Given the description of an element on the screen output the (x, y) to click on. 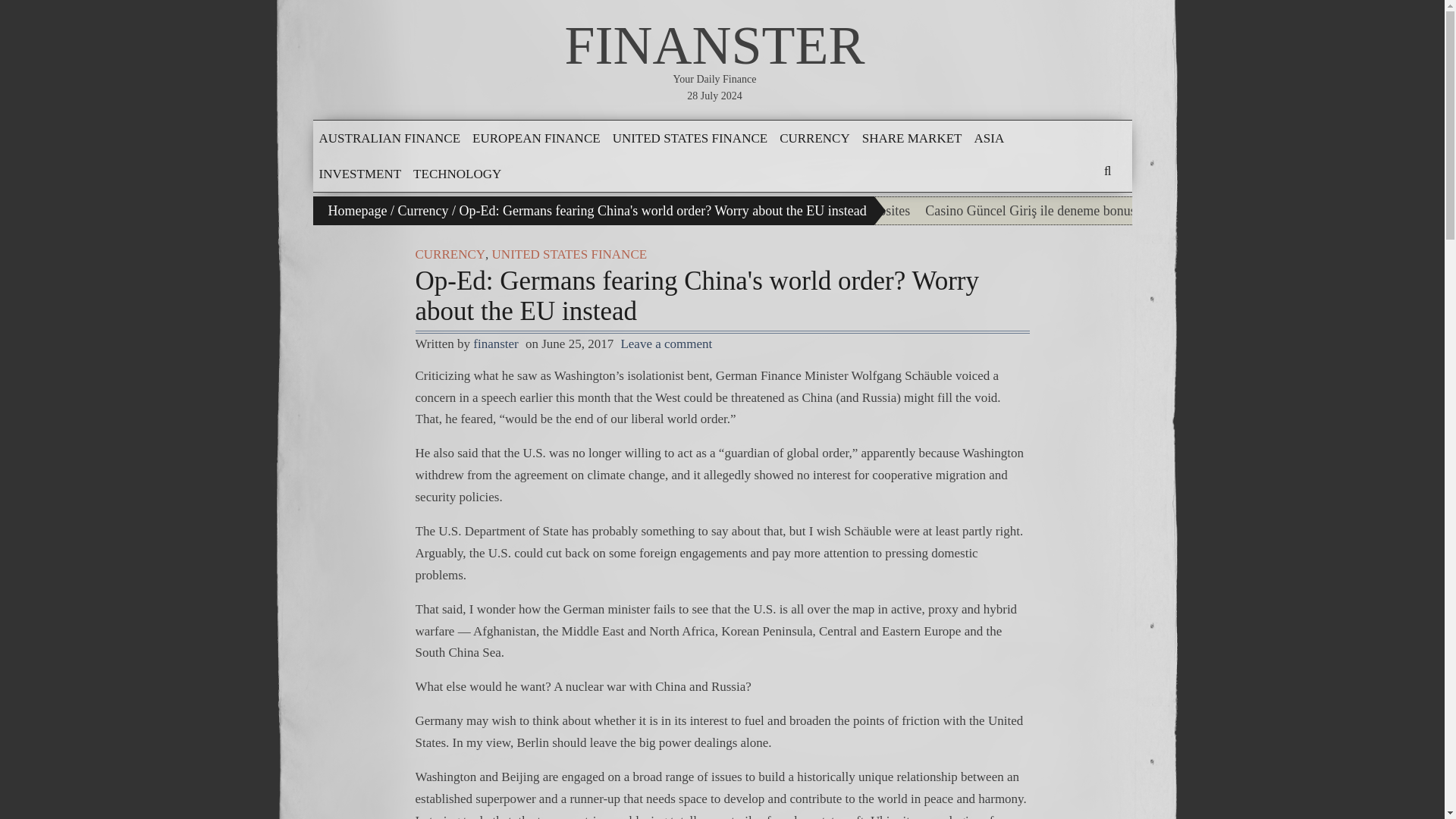
INVESTMENT (359, 173)
EUROPEAN FINANCE (535, 137)
Homepage (357, 210)
ASIA (989, 137)
TECHNOLOGY (456, 173)
SHARE MARKET (911, 137)
Currency (422, 210)
AUSTRALIAN FINANCE (389, 137)
CURRENCY (814, 137)
Click for Home (714, 45)
UNITED STATES FINANCE (690, 137)
FINANSTER (714, 45)
